Given the description of an element on the screen output the (x, y) to click on. 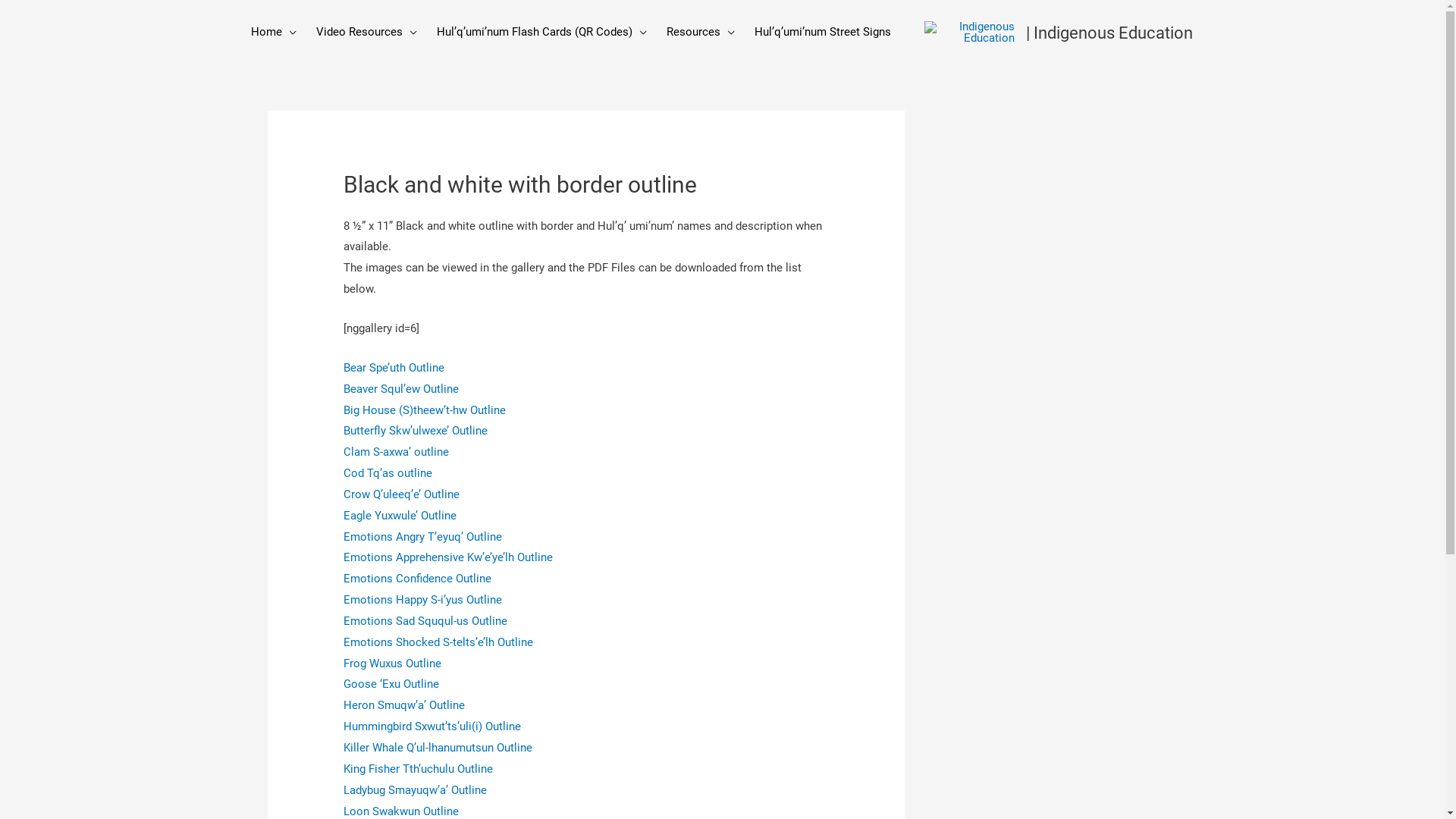
Video Resources Element type: text (366, 31)
Frog Wuxus Outline Element type: text (392, 663)
Home Element type: text (273, 31)
Loon Swakwun Outline Element type: text (400, 811)
Emotions Confidence Outline Element type: text (417, 578)
Resources Element type: text (700, 31)
Emotions Sad Sququl-us Outline Element type: text (425, 620)
